Given the description of an element on the screen output the (x, y) to click on. 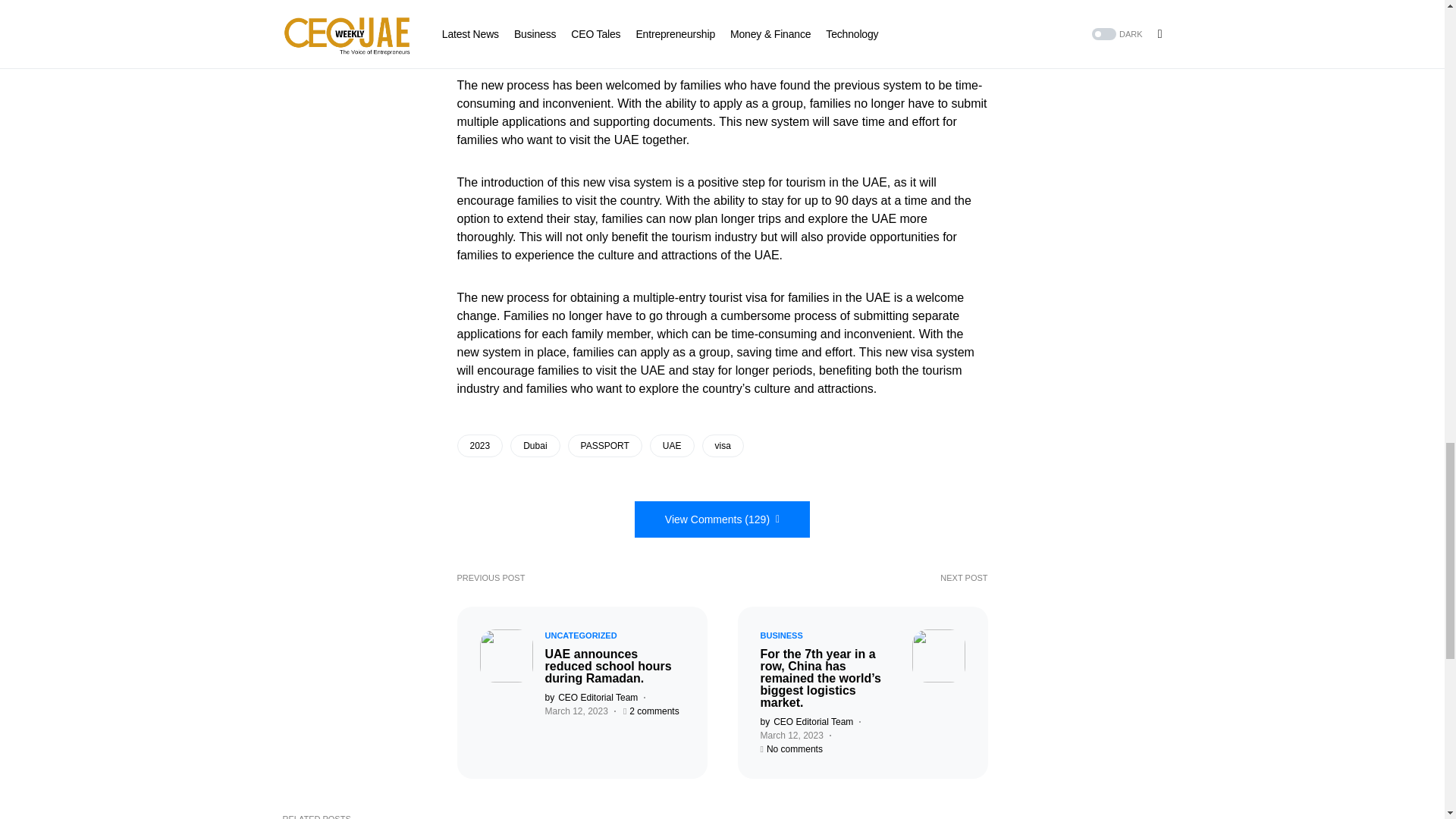
View all posts by CEO Editorial Team (590, 697)
View all posts by CEO Editorial Team (806, 721)
